Given the description of an element on the screen output the (x, y) to click on. 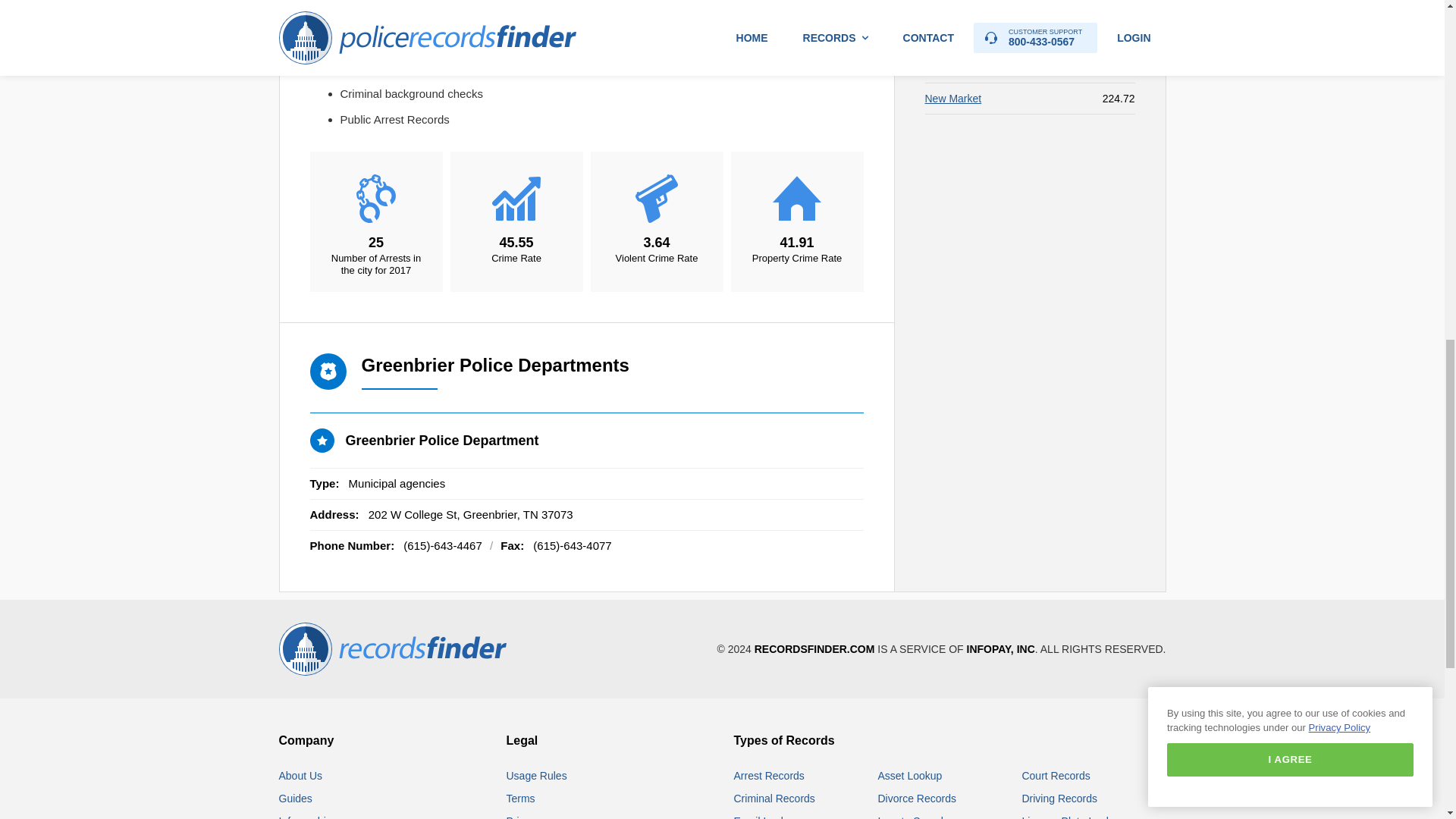
RecordsFinder.com Privacy Policy (523, 816)
View Public Records Infographics and Statistics (307, 816)
Guides and How tos (296, 798)
RecordsFinder.com Usage Rules (536, 775)
About RecordsFinder.com (301, 775)
RecordsFinder.com Terms and Conditions (520, 798)
